Given the description of an element on the screen output the (x, y) to click on. 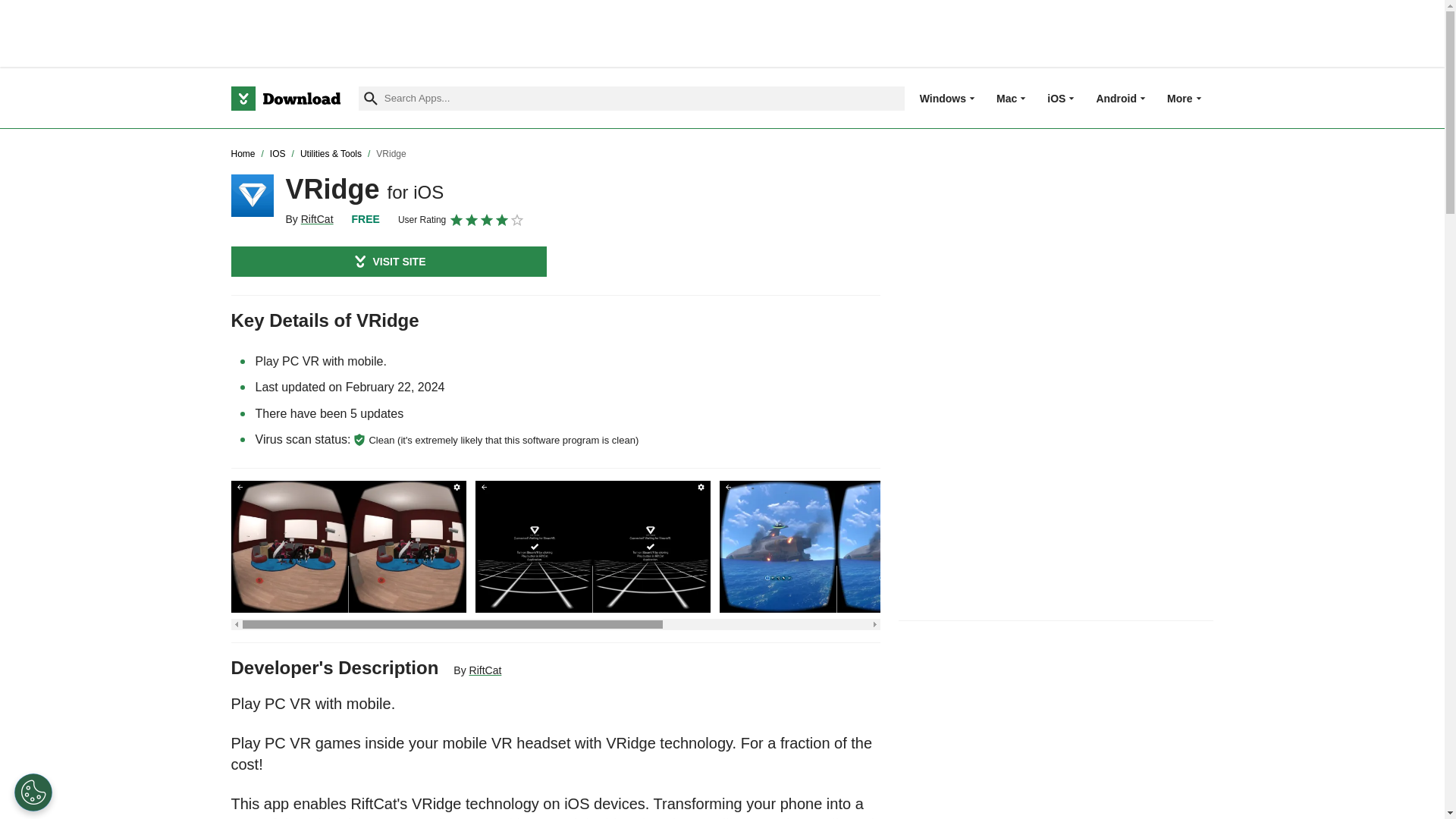
Windows (943, 97)
Mac (1005, 97)
